Given the description of an element on the screen output the (x, y) to click on. 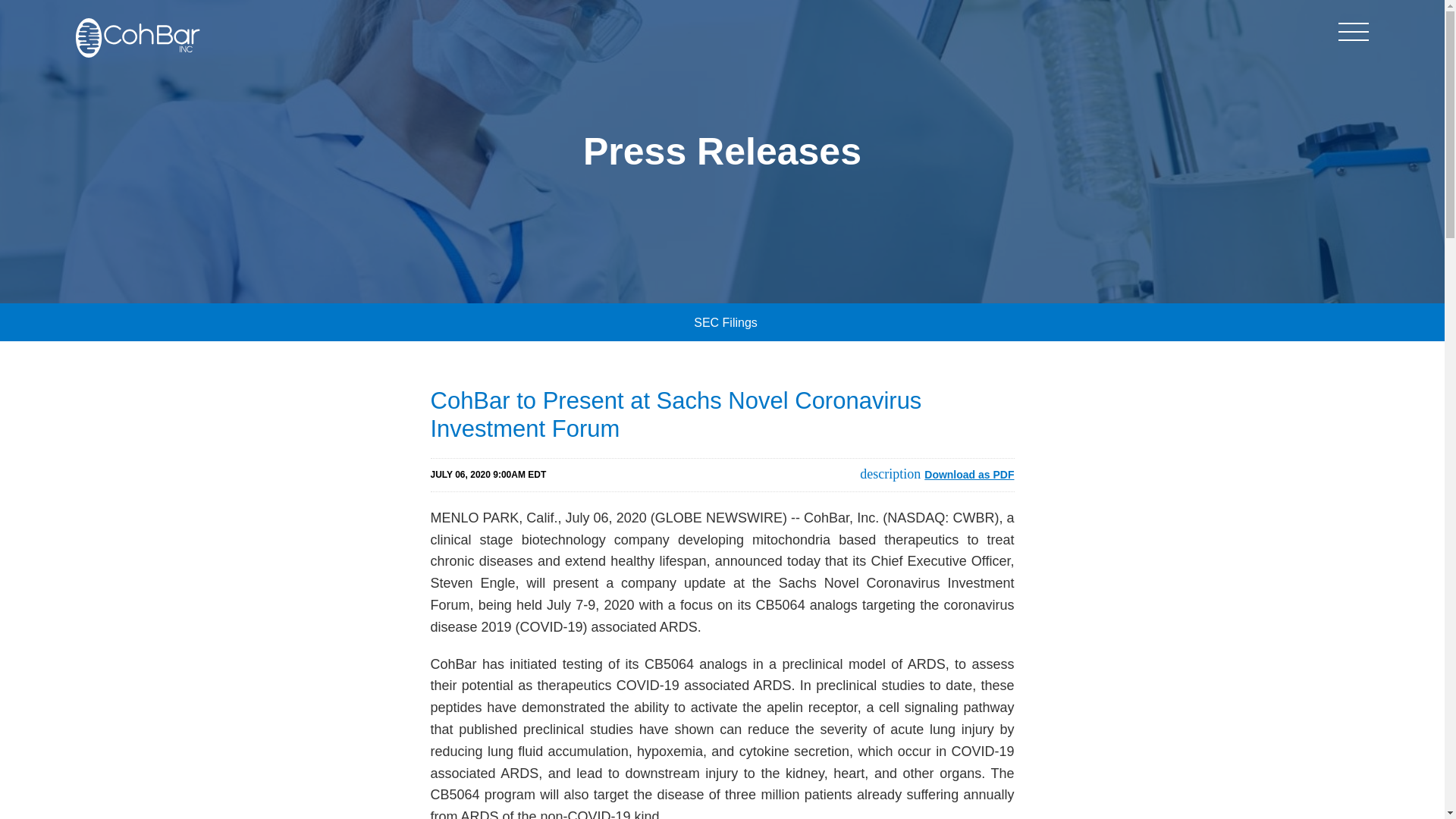
Download as PDF (936, 474)
SEC Filings (721, 322)
